Given the description of an element on the screen output the (x, y) to click on. 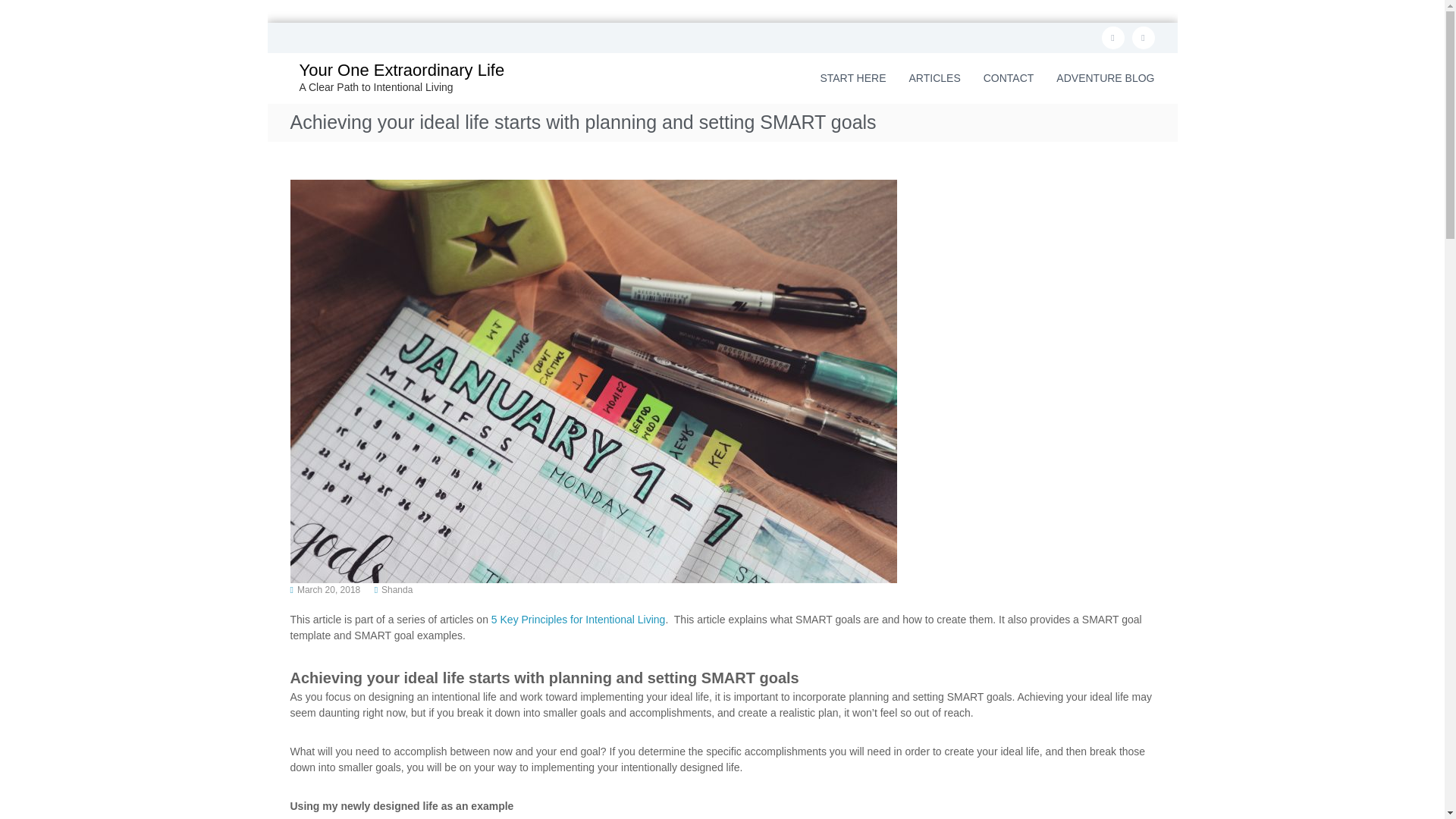
Shanda (396, 588)
March 20, 2018 (328, 588)
Your One Extraordinary Life (400, 69)
5 Key Principles for Intentional Living (578, 618)
START HERE (852, 78)
